Given the description of an element on the screen output the (x, y) to click on. 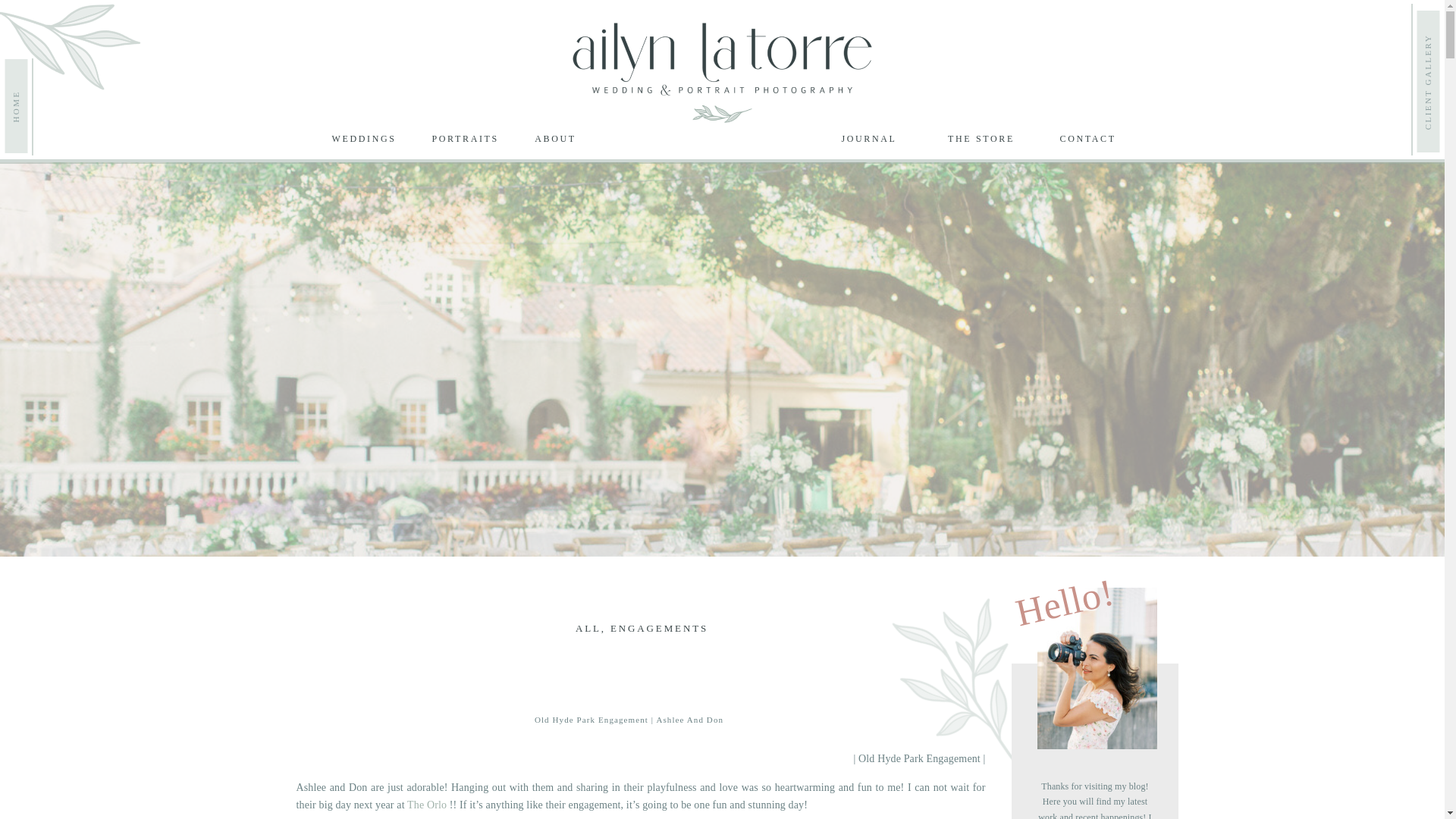
PORTRAITS (464, 138)
ENGAGEMENTS (658, 627)
The Orlo (426, 804)
ABOUT (555, 138)
JOURNAL (868, 138)
WEDDINGS (362, 138)
HOME (49, 72)
THE STORE (980, 138)
CONTACT (1086, 138)
ALL (588, 627)
